Given the description of an element on the screen output the (x, y) to click on. 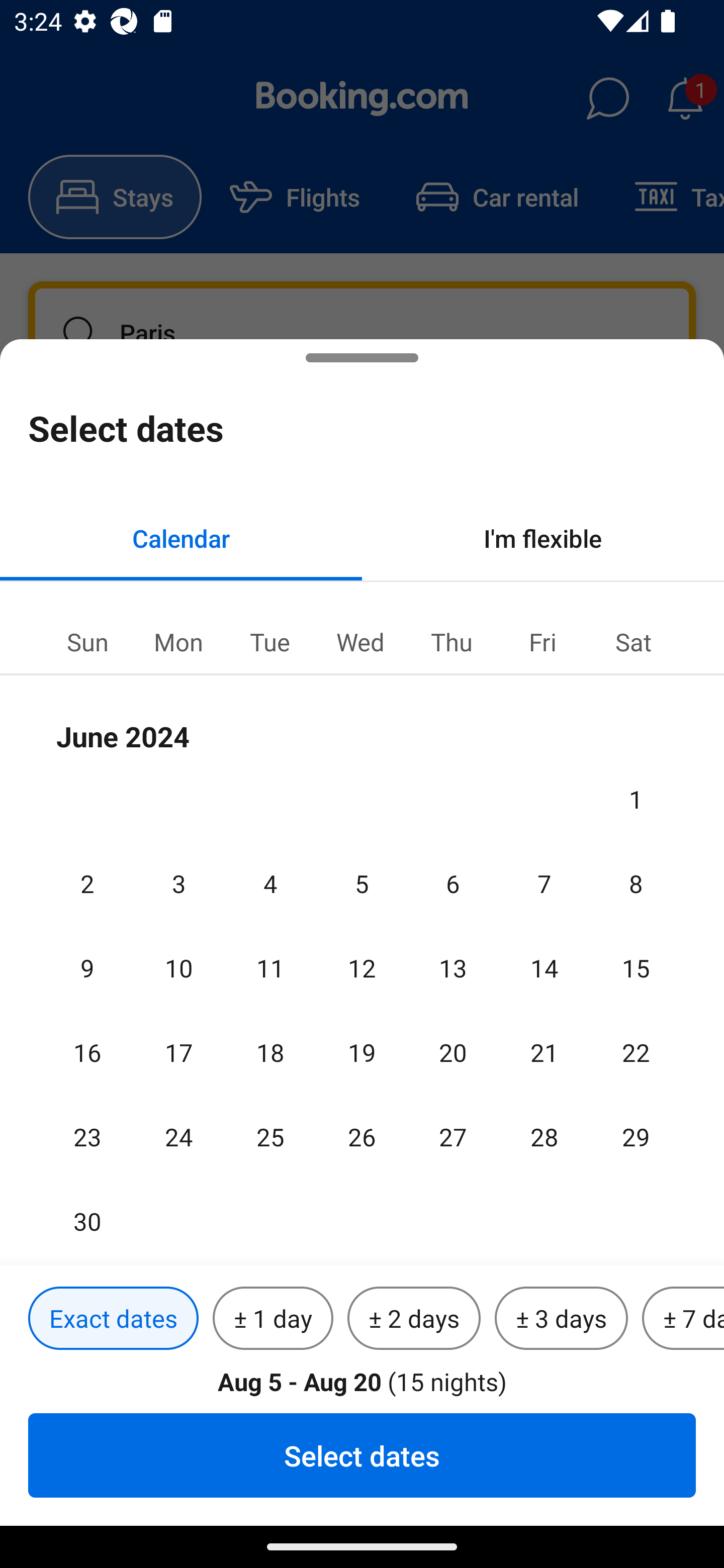
I'm flexible (543, 537)
Exact dates (113, 1318)
± 1 day (272, 1318)
± 2 days (413, 1318)
± 3 days (560, 1318)
± 7 days (683, 1318)
Select dates (361, 1454)
